Given the description of an element on the screen output the (x, y) to click on. 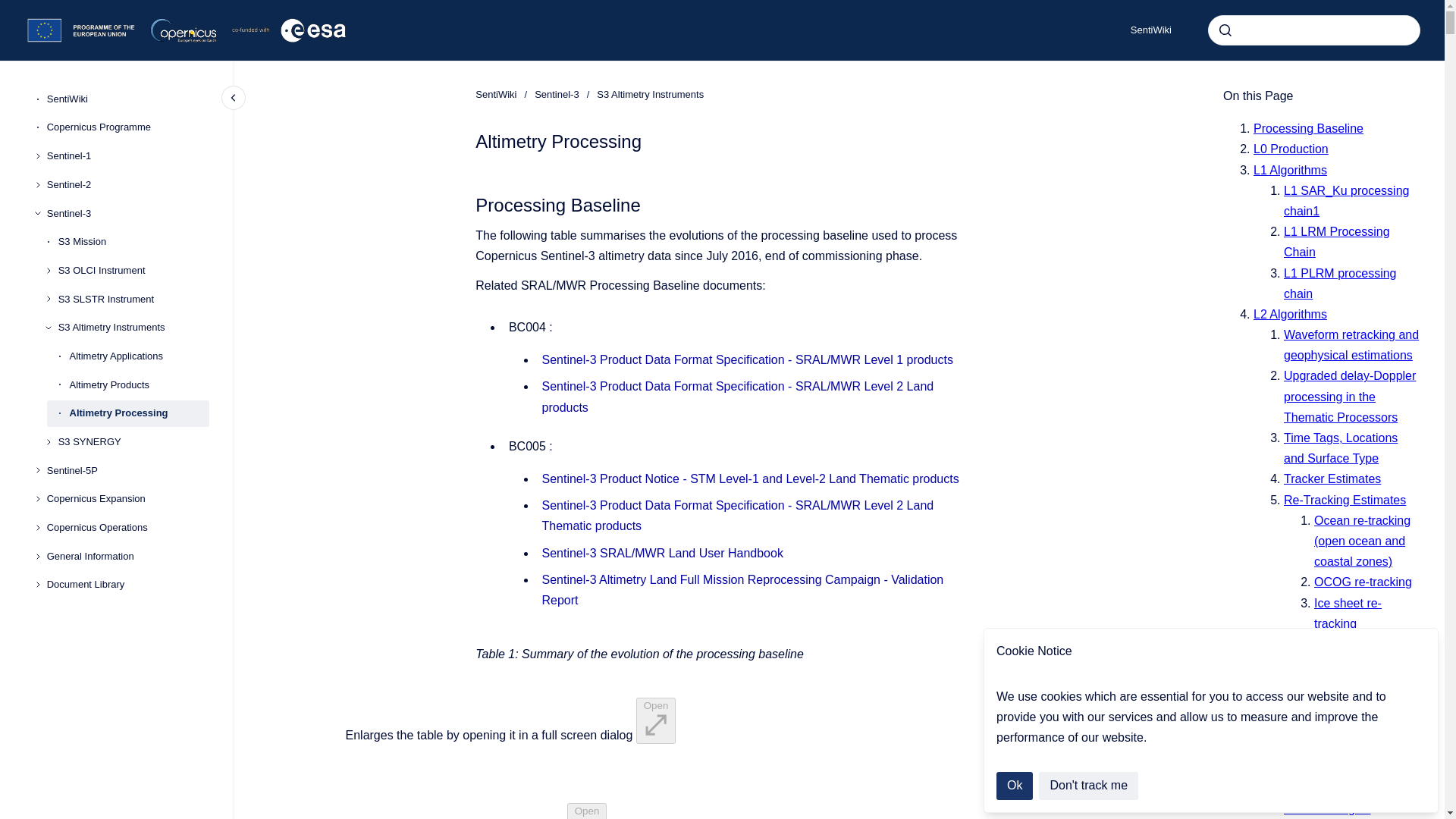
Copernicus Programme (127, 127)
Go to homepage (186, 30)
Altimetry Applications (139, 356)
Ok (1013, 786)
Altimetry Processing (139, 413)
Sentinel-2 (127, 185)
Copernicus Operations (127, 527)
Sentinel-1 (127, 155)
S3 Mission (133, 241)
SentiWiki (496, 94)
SentiWiki (127, 99)
S3 SLSTR Instrument (133, 298)
Altimetry Products (139, 384)
Sentinel-5P (127, 470)
General Information (127, 556)
